Given the description of an element on the screen output the (x, y) to click on. 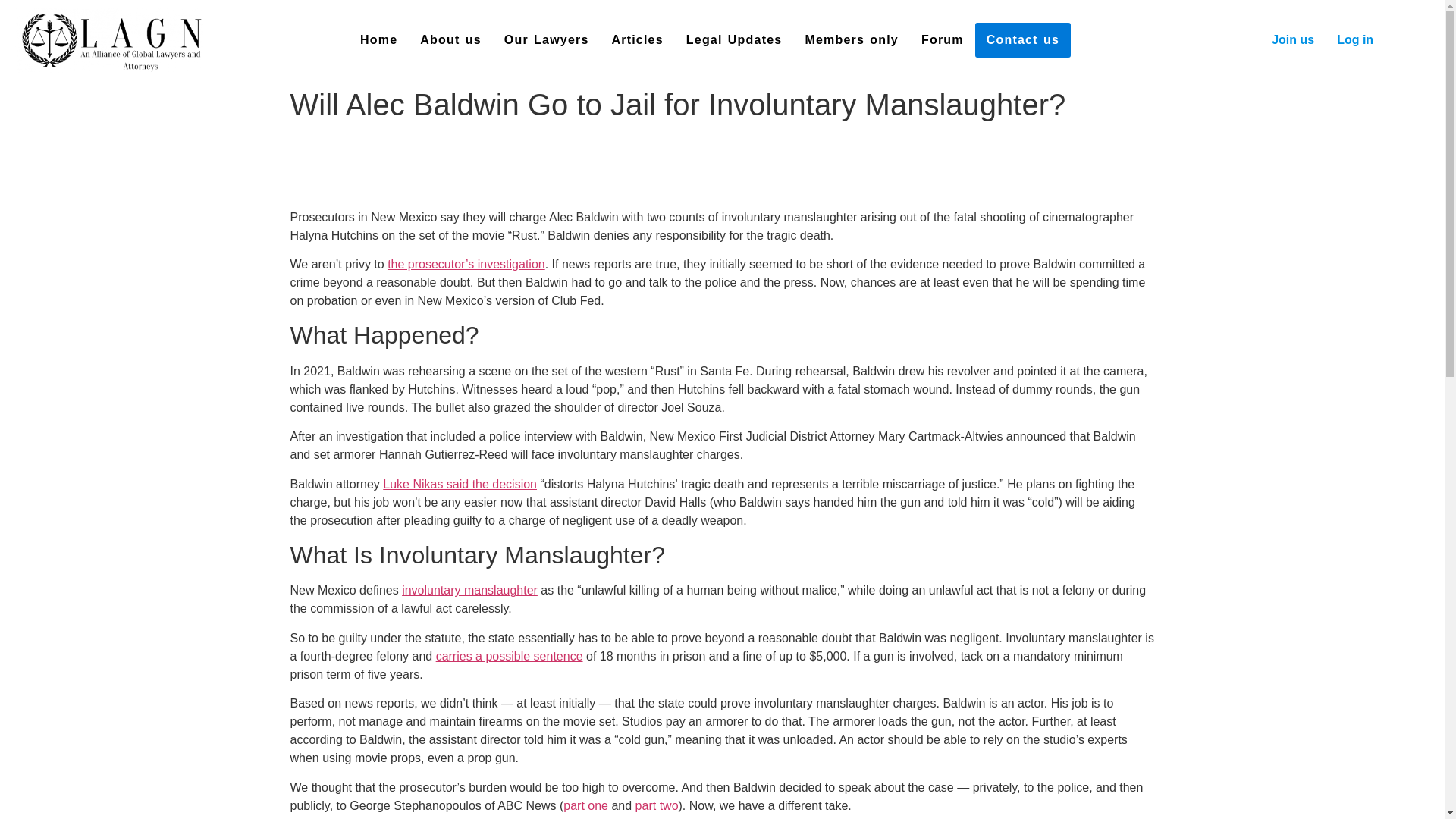
Luke Nikas said the decision (459, 483)
Forum (942, 39)
involuntary manslaughter (469, 590)
Join us (1292, 39)
Articles (637, 39)
Members only (851, 39)
Legal Updates (734, 39)
Contact us (1022, 39)
Log in (1354, 39)
part one (585, 805)
Our Lawyers (546, 39)
About us (451, 39)
carries a possible sentence (509, 656)
part two (656, 805)
Home (379, 39)
